Given the description of an element on the screen output the (x, y) to click on. 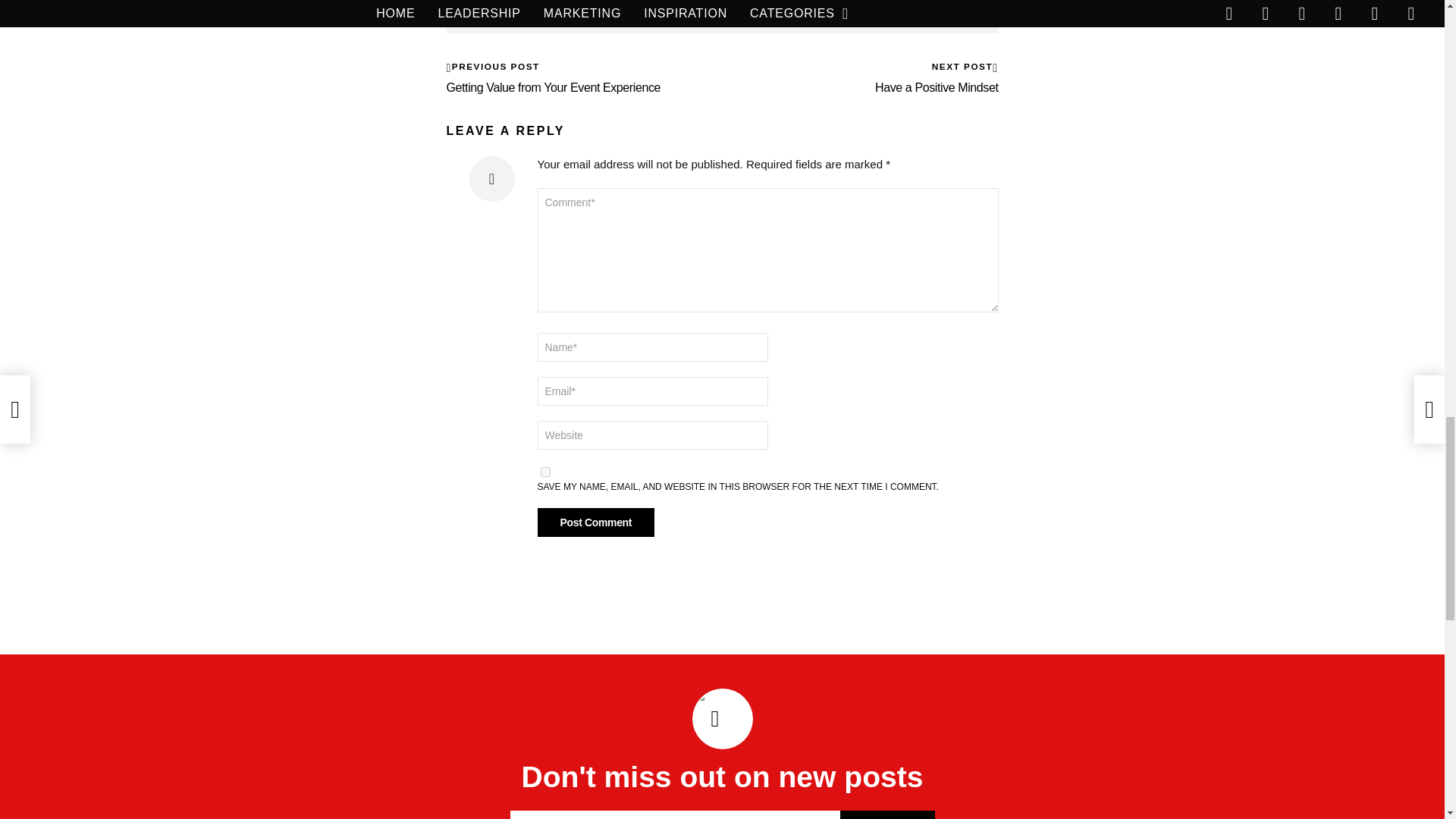
yes (545, 471)
Subscribe (887, 814)
Post Comment (595, 522)
